Given the description of an element on the screen output the (x, y) to click on. 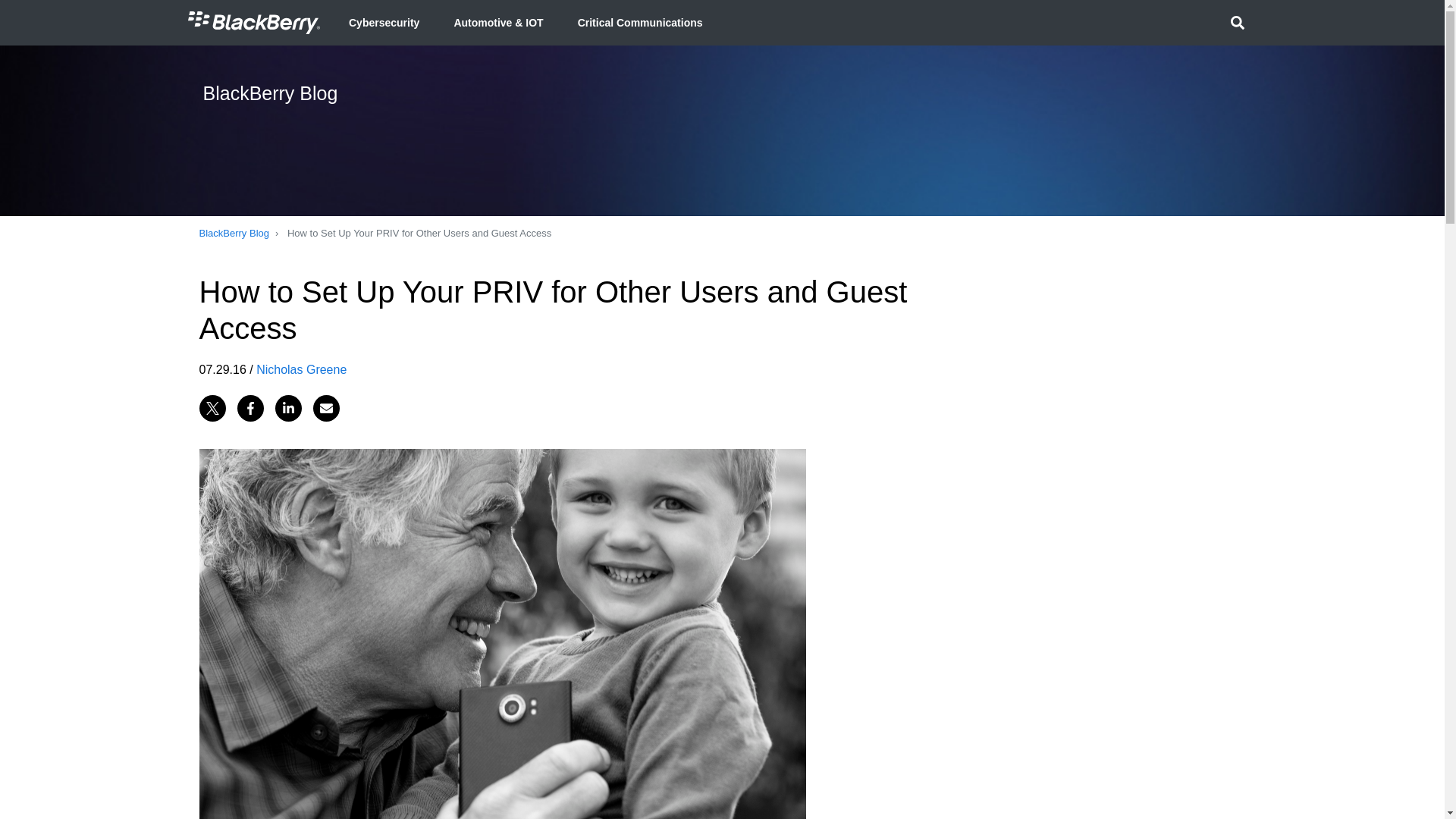
Share on Facebook (249, 406)
Cybersecurity (383, 22)
Share on LinkedIn (288, 406)
Critical Communications (639, 22)
BlackBerry Logo (253, 22)
Email (326, 406)
BlackBerry Logo (253, 22)
Nicholas Greene (301, 368)
Share on X (211, 406)
Share on X (211, 406)
